Given the description of an element on the screen output the (x, y) to click on. 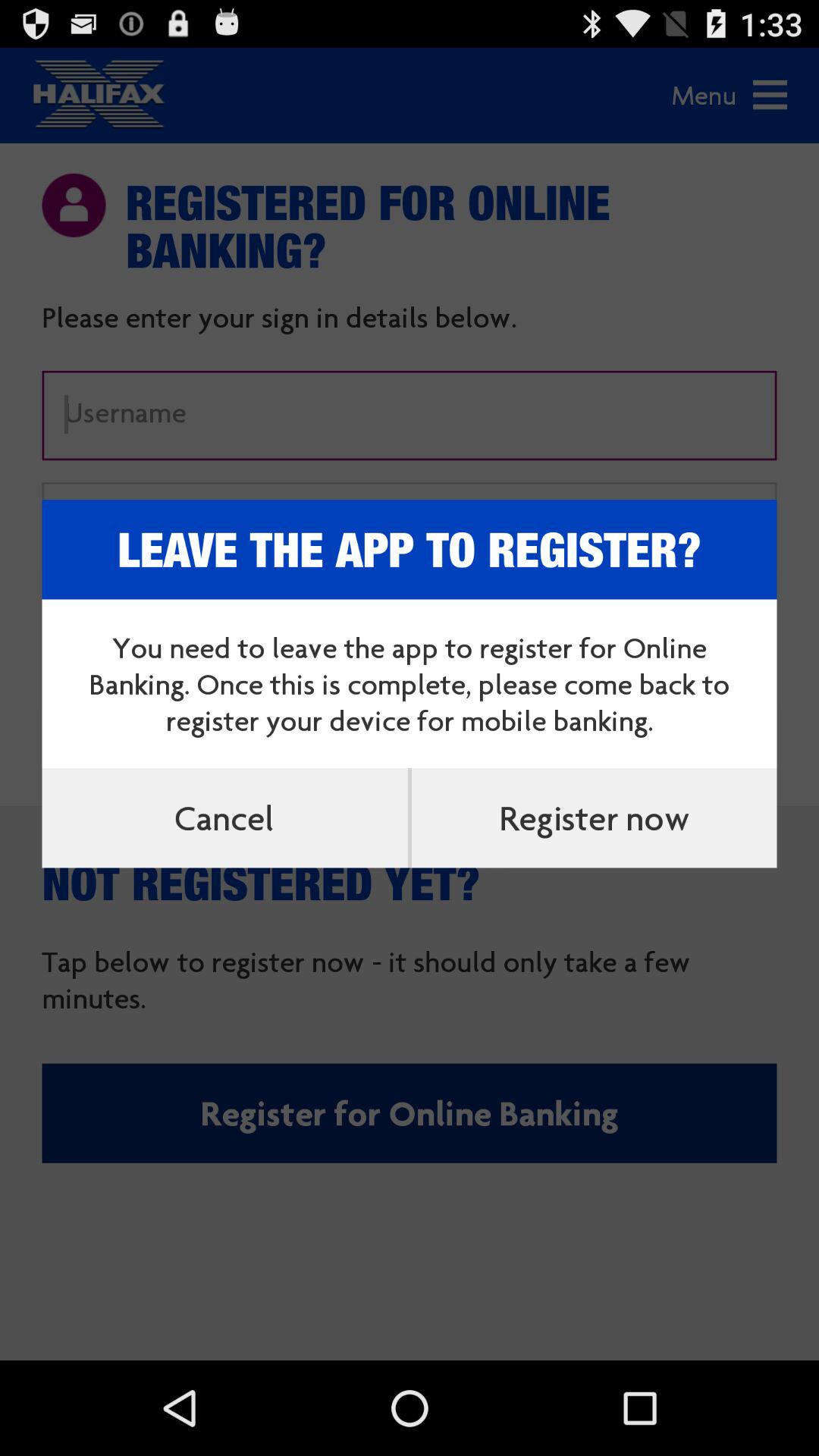
jump until the register now icon (593, 817)
